Given the description of an element on the screen output the (x, y) to click on. 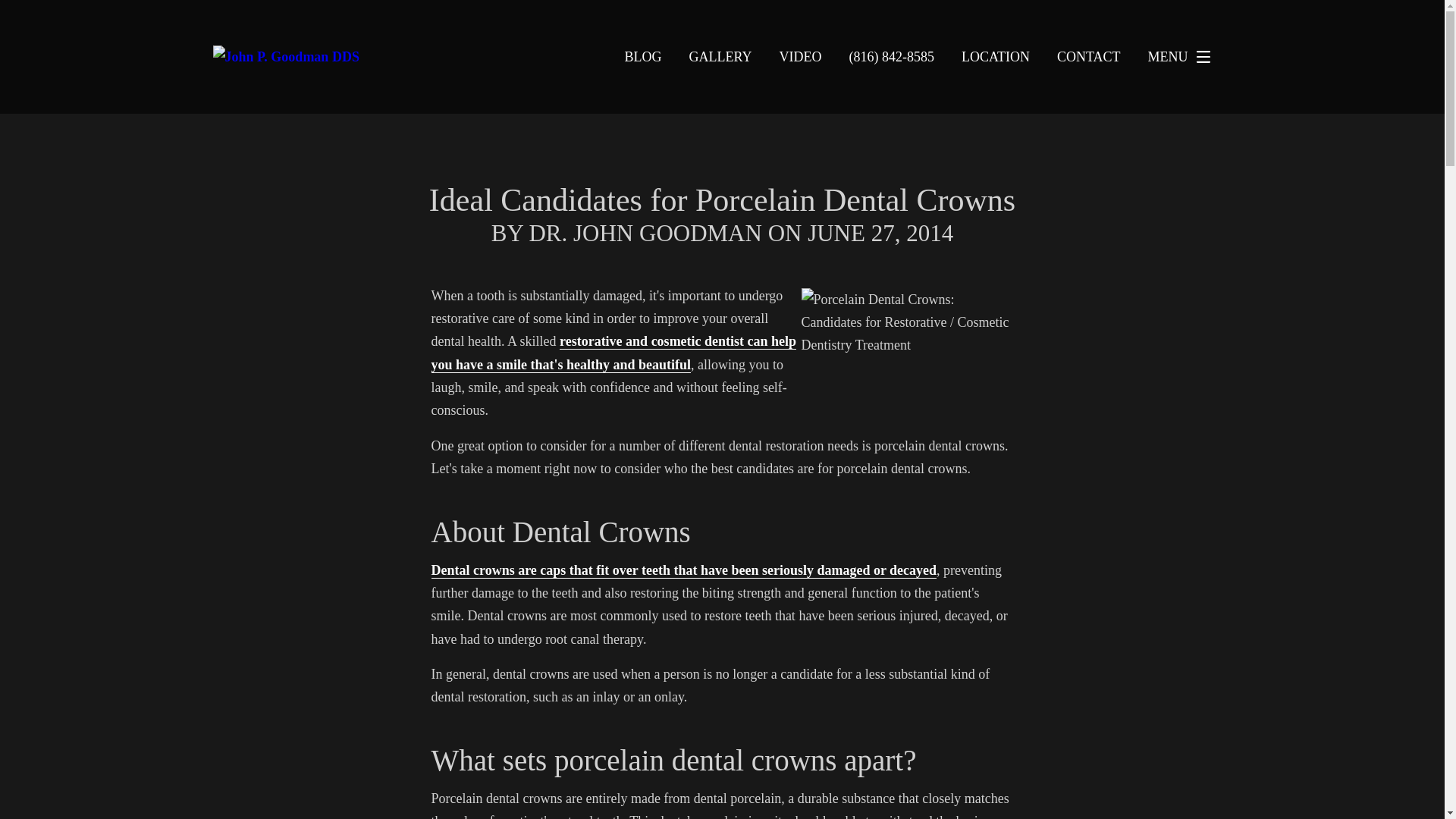
MENU (1182, 56)
